Given the description of an element on the screen output the (x, y) to click on. 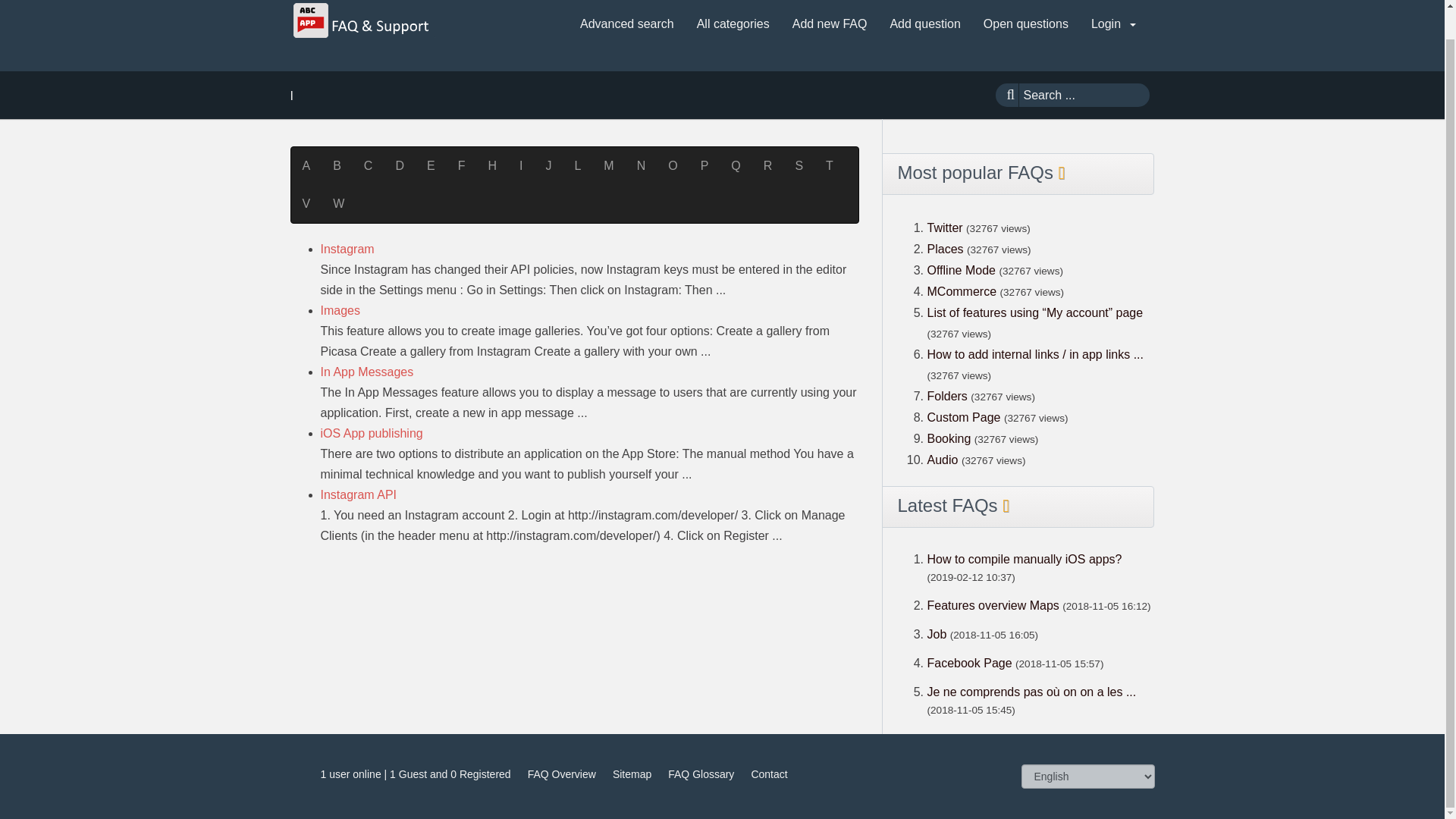
Add new FAQ (829, 23)
Instagram (347, 248)
ABCApp Support and manual (361, 20)
Instagram API (358, 494)
In App Messages (366, 371)
Places (944, 248)
Login (1112, 23)
Offline Mode (962, 269)
Images (339, 309)
Open questions (1025, 23)
Instagram API (358, 494)
Advanced search (626, 23)
Instagram (347, 248)
Images (339, 309)
iOS App publishing (371, 432)
